Given the description of an element on the screen output the (x, y) to click on. 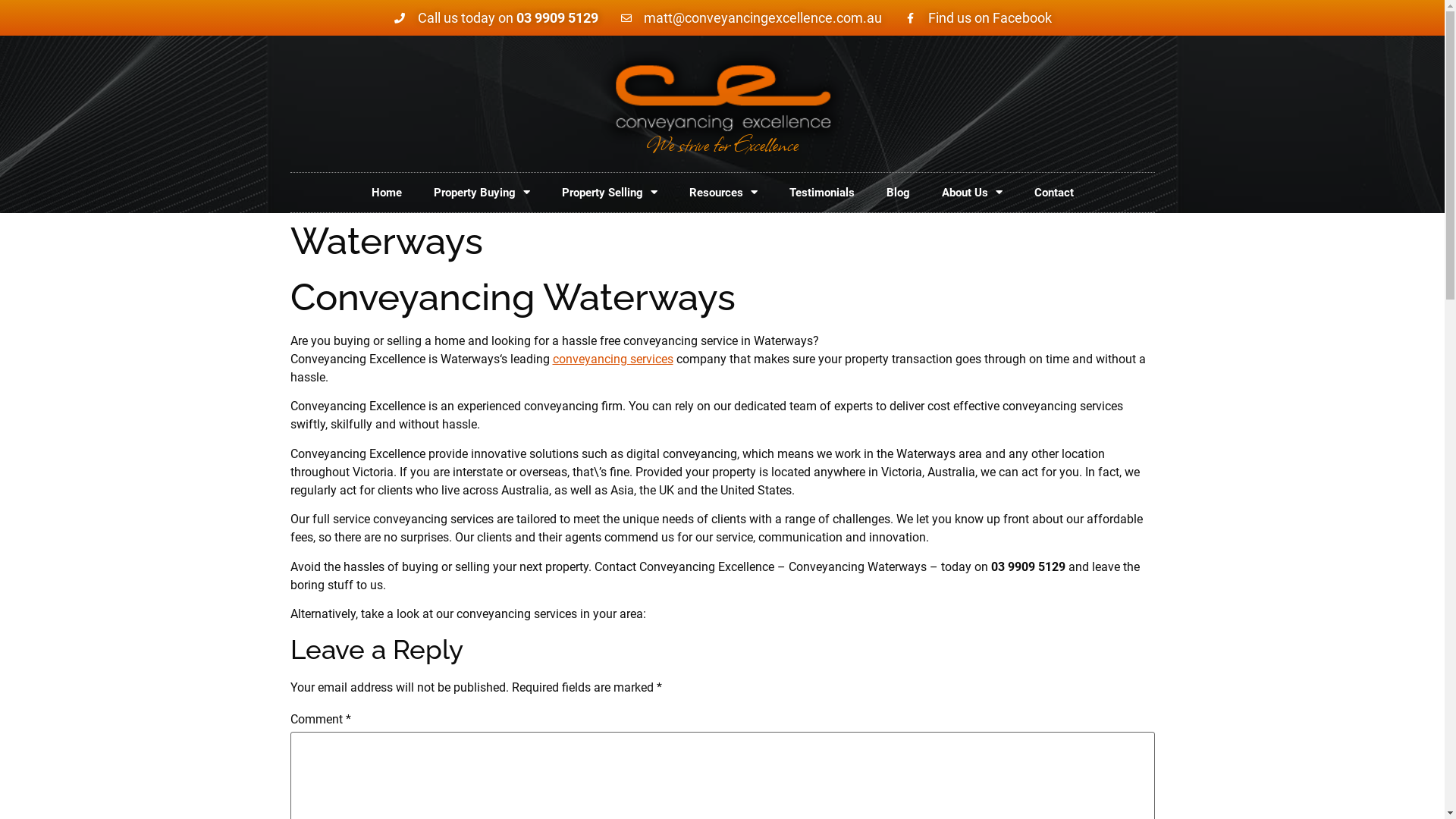
Property Selling Element type: text (609, 192)
Call us today on 03 9909 5129 Element type: text (495, 17)
Home Element type: text (385, 192)
Contact Element type: text (1052, 192)
Testimonials Element type: text (821, 192)
Resources Element type: text (723, 192)
Property Buying Element type: text (481, 192)
conveyancing services Element type: text (612, 358)
About Us Element type: text (971, 192)
matt@conveyancingexcellence.com.au Element type: text (750, 17)
Blog Element type: text (897, 192)
Find us on Facebook Element type: text (977, 17)
